Given the description of an element on the screen output the (x, y) to click on. 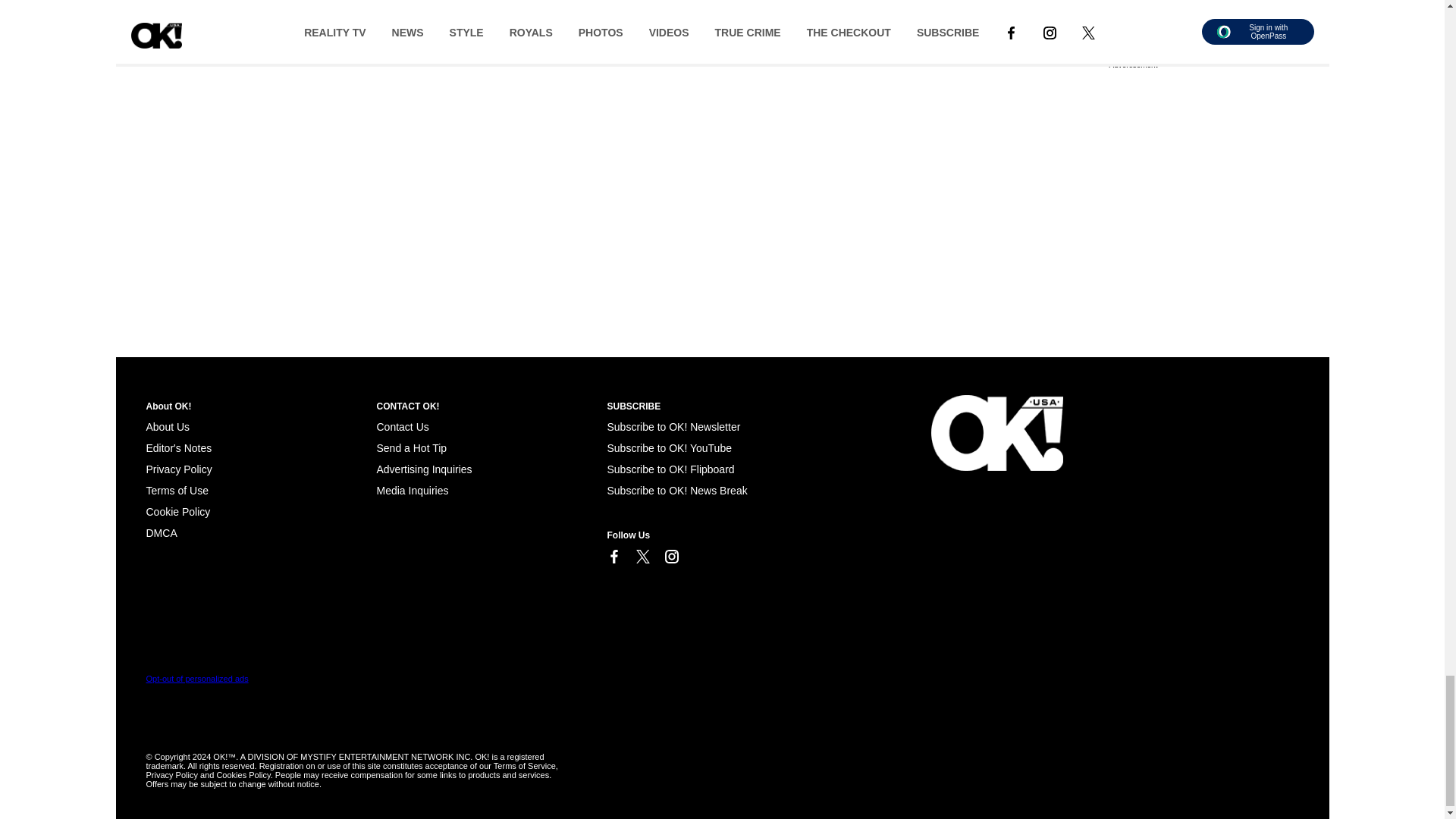
Editor's Notes (178, 448)
Privacy Policy (178, 469)
Link to X (641, 556)
Cookie Policy (160, 532)
About Us (167, 426)
Cookie Policy (177, 511)
Link to Facebook (613, 556)
Link to Instagram (670, 556)
Terms of Use (176, 490)
